Given the description of an element on the screen output the (x, y) to click on. 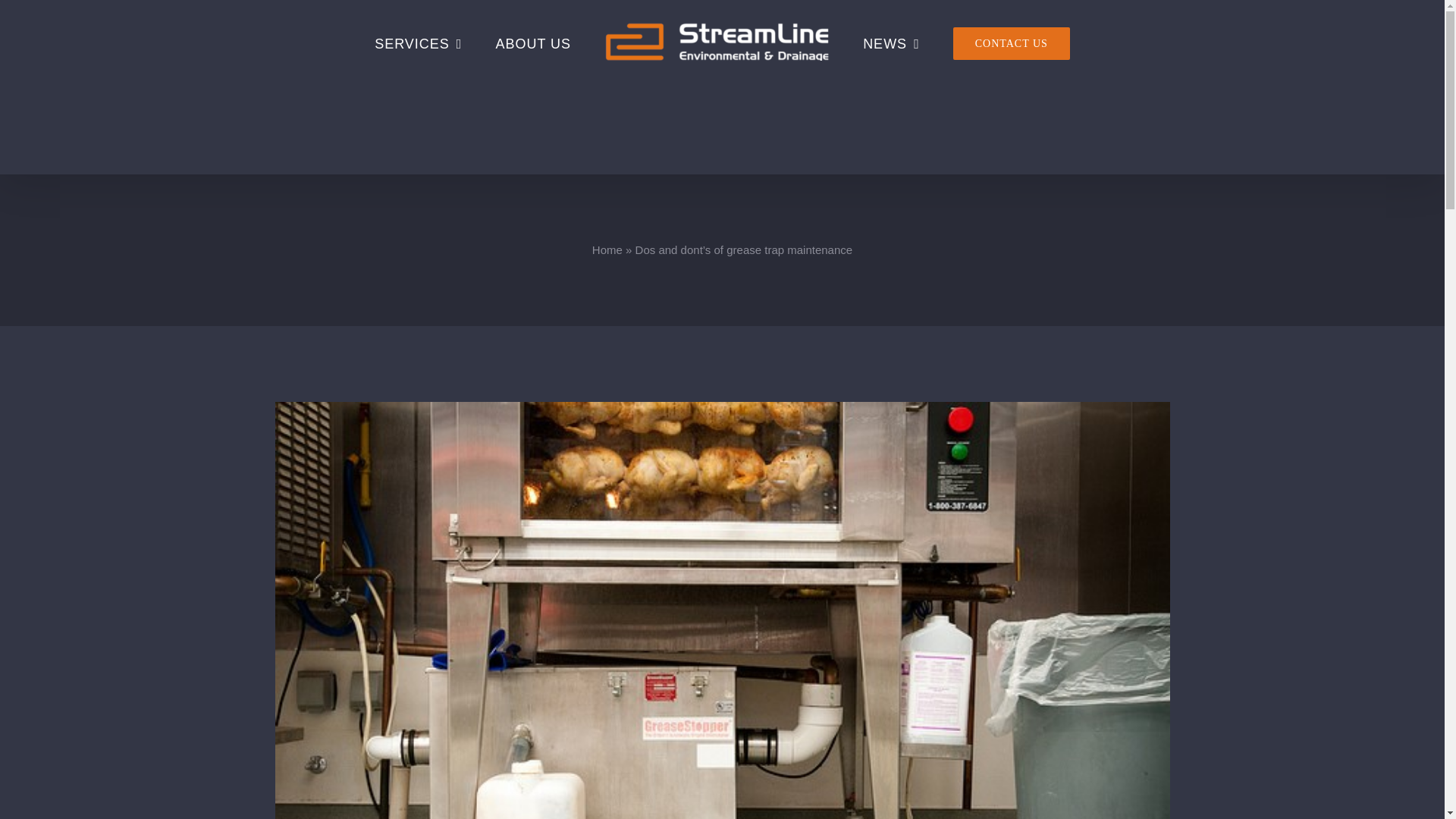
SERVICES (418, 43)
CONTACT US (1011, 43)
ABOUT US (533, 43)
NEWS (890, 43)
